Given the description of an element on the screen output the (x, y) to click on. 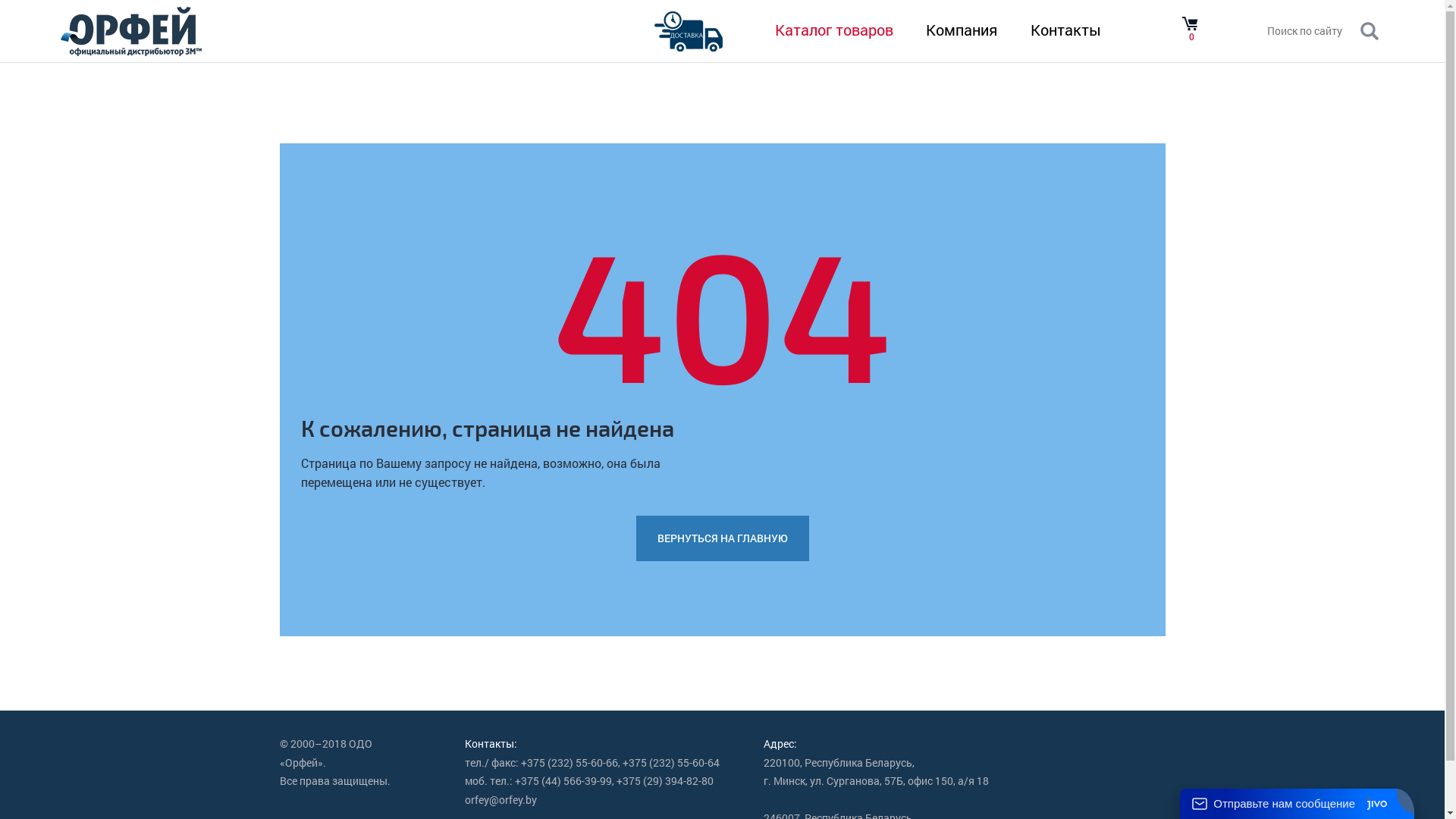
+375 (232) 55-60-64 Element type: text (670, 762)
+375 (29) 394-82-80 Element type: text (664, 780)
orfey@orfey.by Element type: text (500, 799)
+375 (44) 566-39-99 Element type: text (562, 780)
+375 (232) 55-60-66 Element type: text (569, 762)
